Given the description of an element on the screen output the (x, y) to click on. 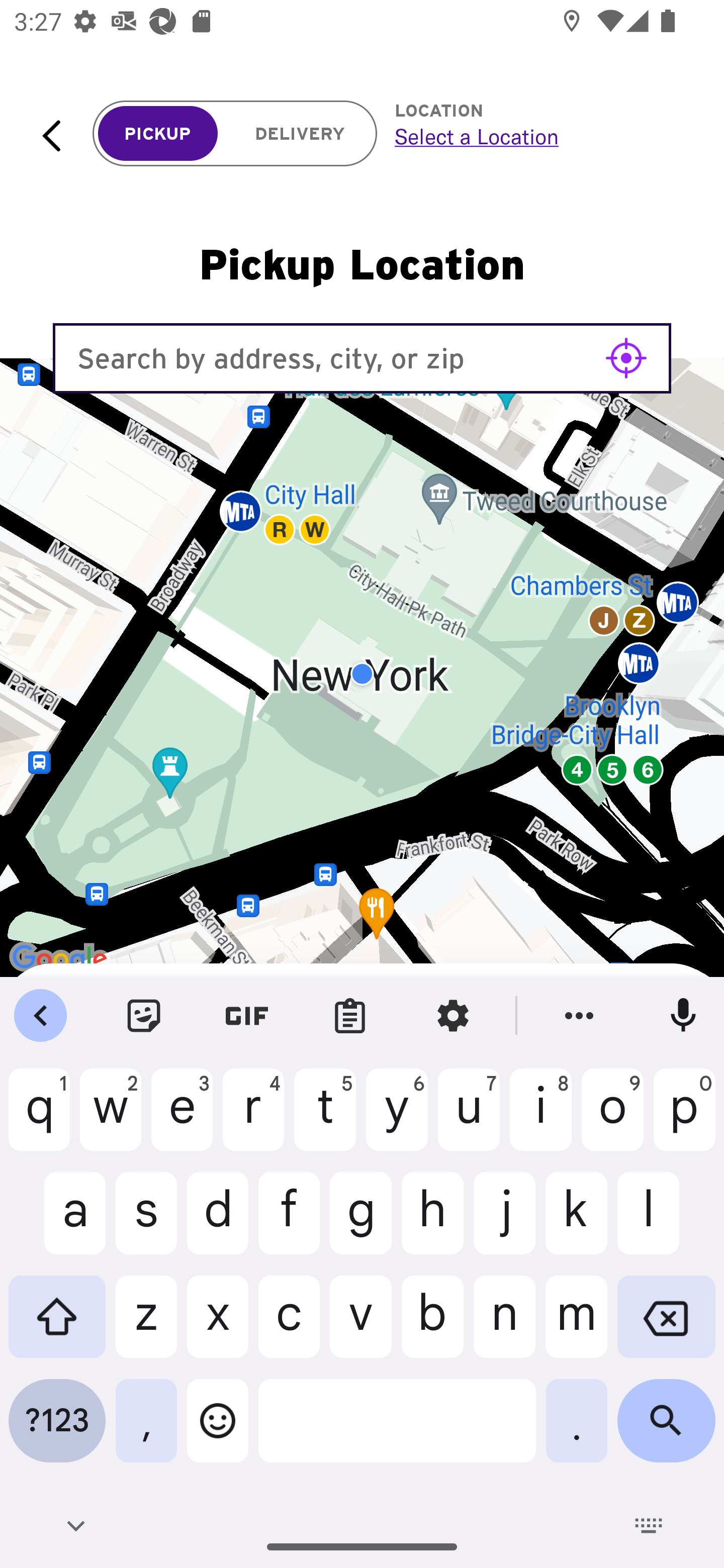
PICKUP (157, 133)
DELIVERY (299, 133)
Select a Location (536, 136)
Search by address, city, or zip (361, 358)
Google Map (362, 674)
